Given the description of an element on the screen output the (x, y) to click on. 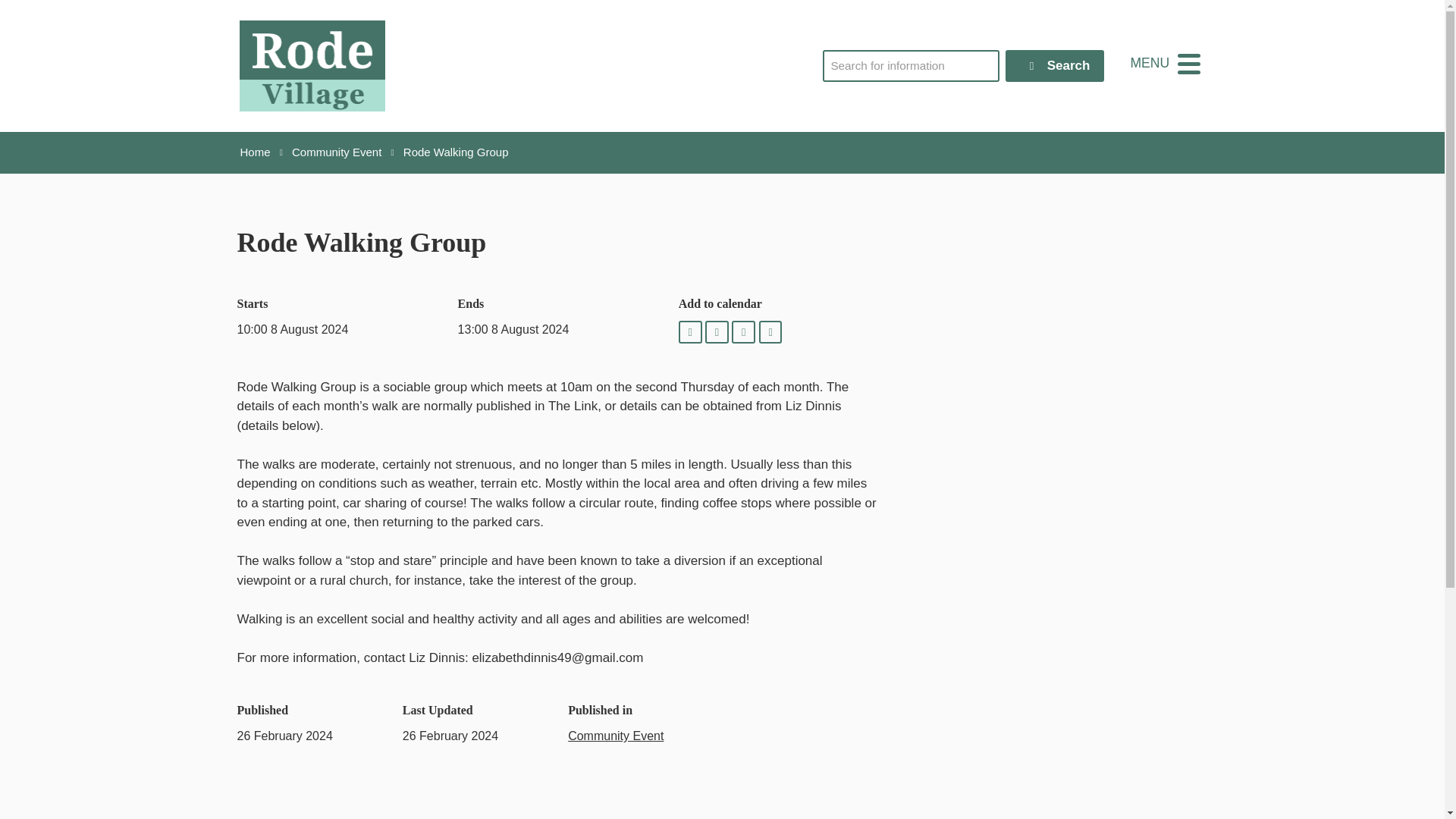
Search (1055, 65)
MENU (1164, 63)
Go to the Community Event Event Category archives. (336, 151)
Go to Home. (254, 151)
